Given the description of an element on the screen output the (x, y) to click on. 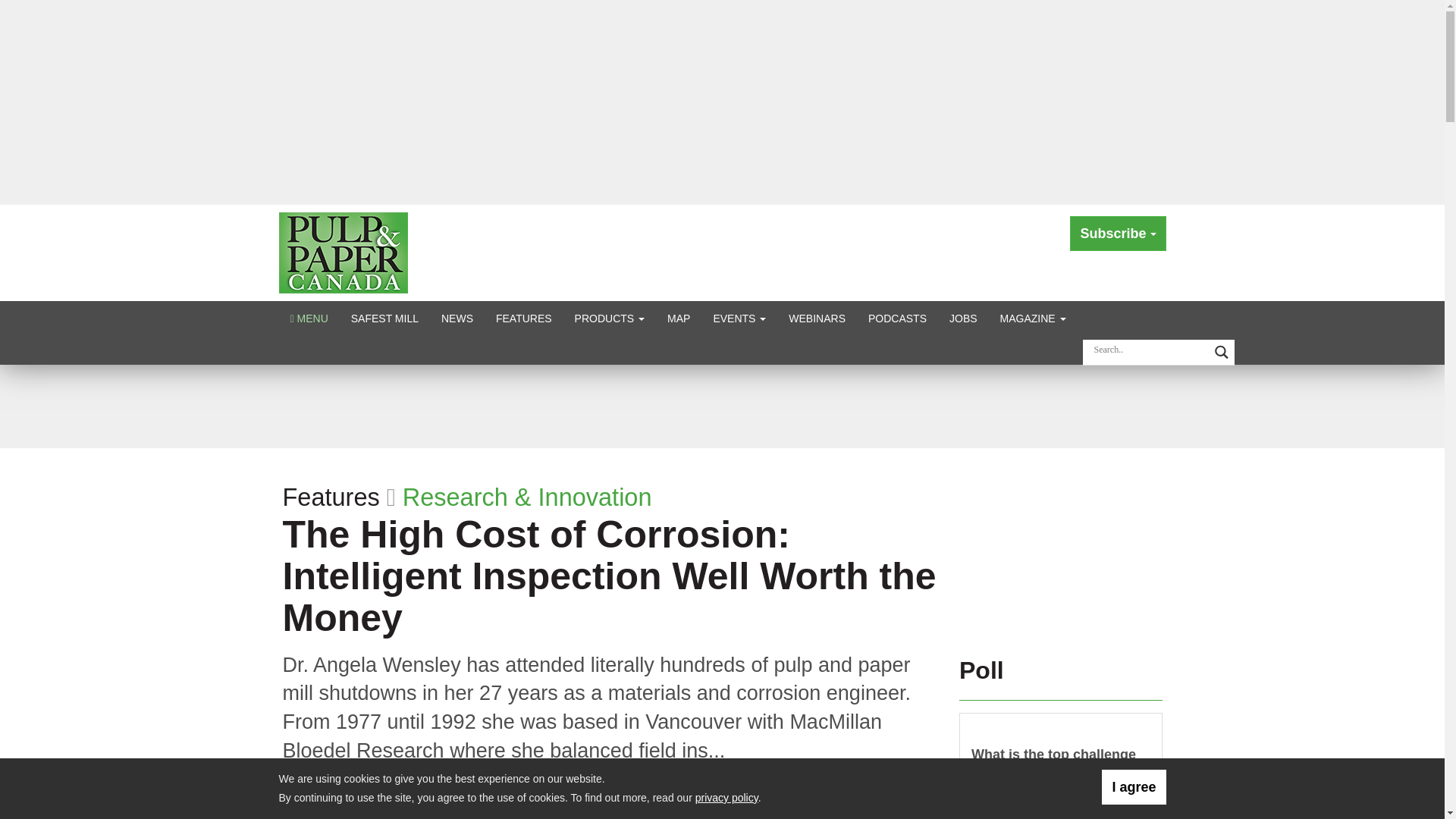
Pulp and Paper Canada (343, 251)
Subscribe (1118, 233)
3rd party ad content (721, 405)
Click to show site navigation (309, 317)
FEATURES (523, 317)
MAGAZINE (1032, 317)
WEBINARS (817, 317)
NEWS (456, 317)
3rd party ad content (1060, 546)
PRODUCTS (609, 317)
MAP (678, 317)
PODCASTS (897, 317)
SAFEST MILL (384, 317)
